Given the description of an element on the screen output the (x, y) to click on. 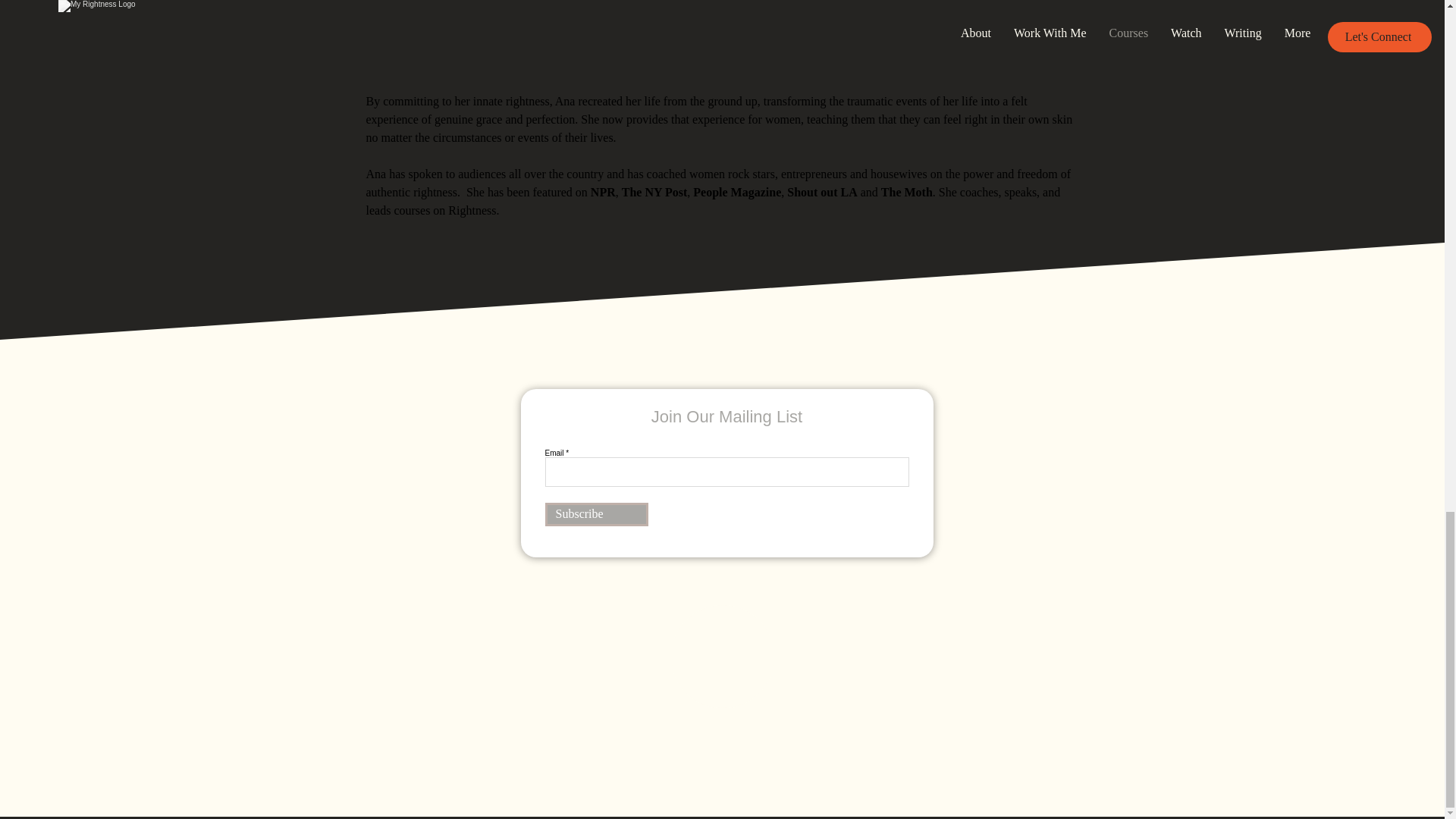
Subscribe (595, 514)
